Given the description of an element on the screen output the (x, y) to click on. 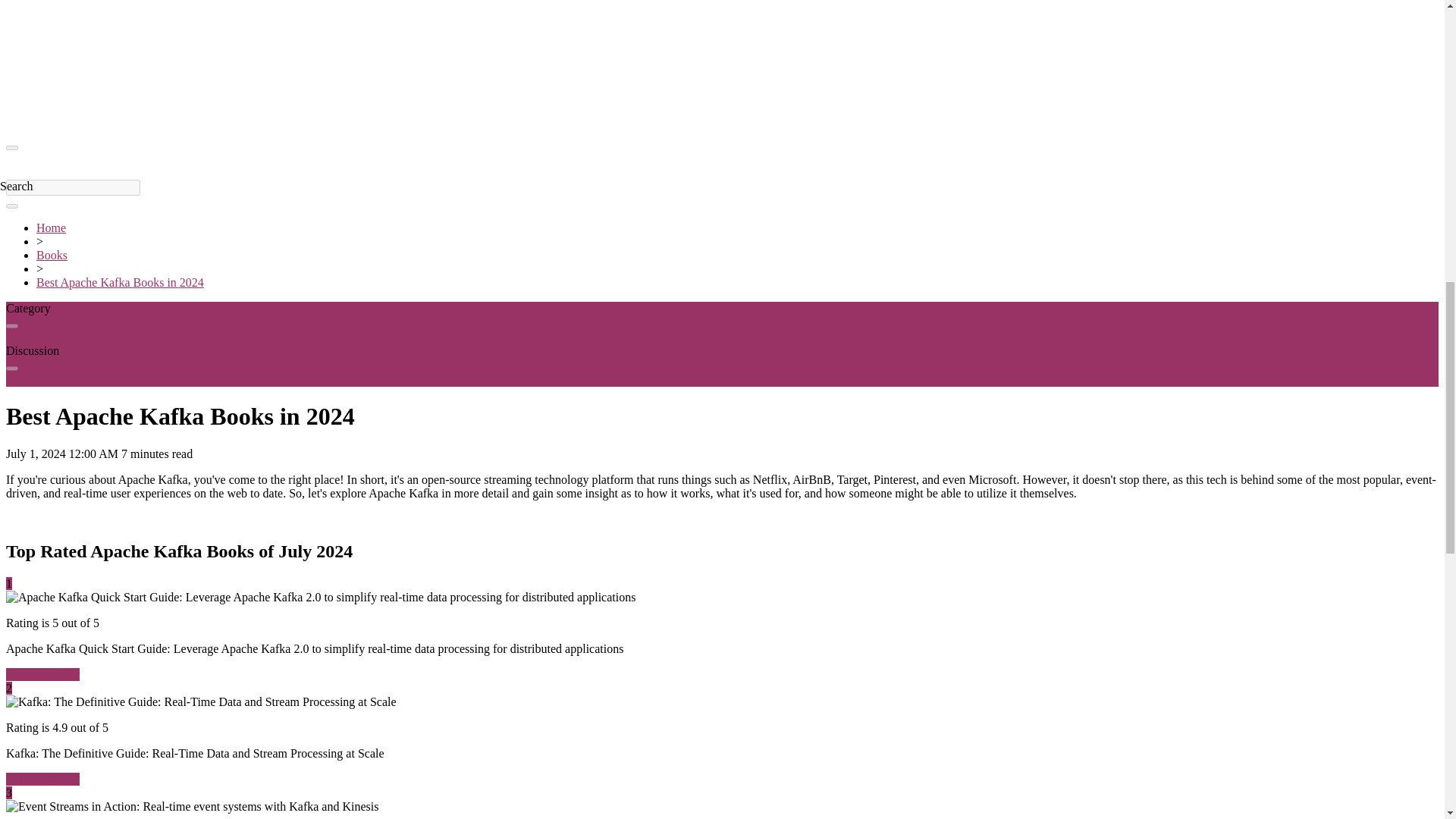
Get Book Now (42, 779)
Get Book Now (42, 674)
Books (51, 254)
Home (50, 227)
Best Apache Kafka Books in 2024 (119, 282)
